Given the description of an element on the screen output the (x, y) to click on. 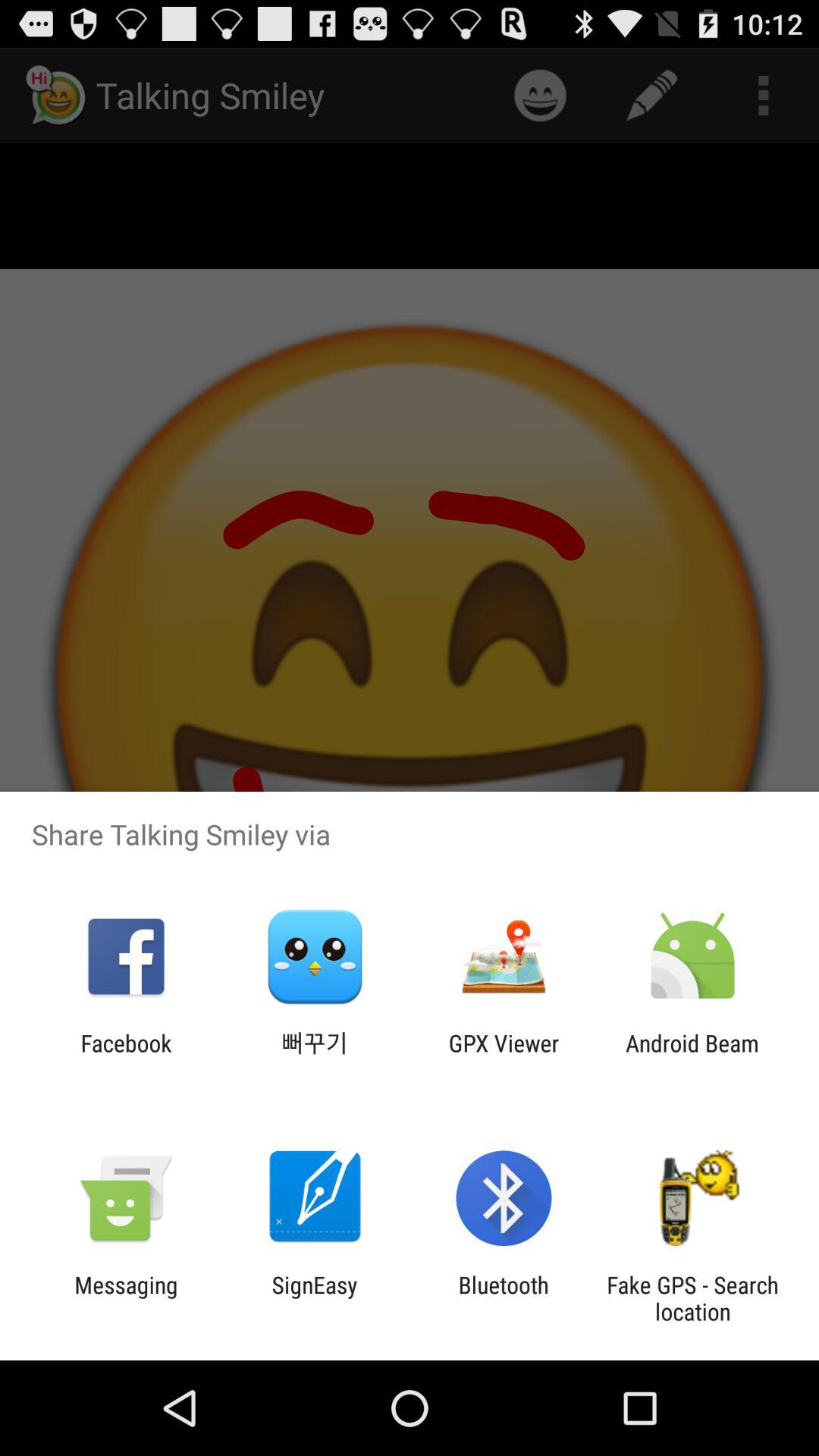
swipe to the signeasy icon (314, 1298)
